Given the description of an element on the screen output the (x, y) to click on. 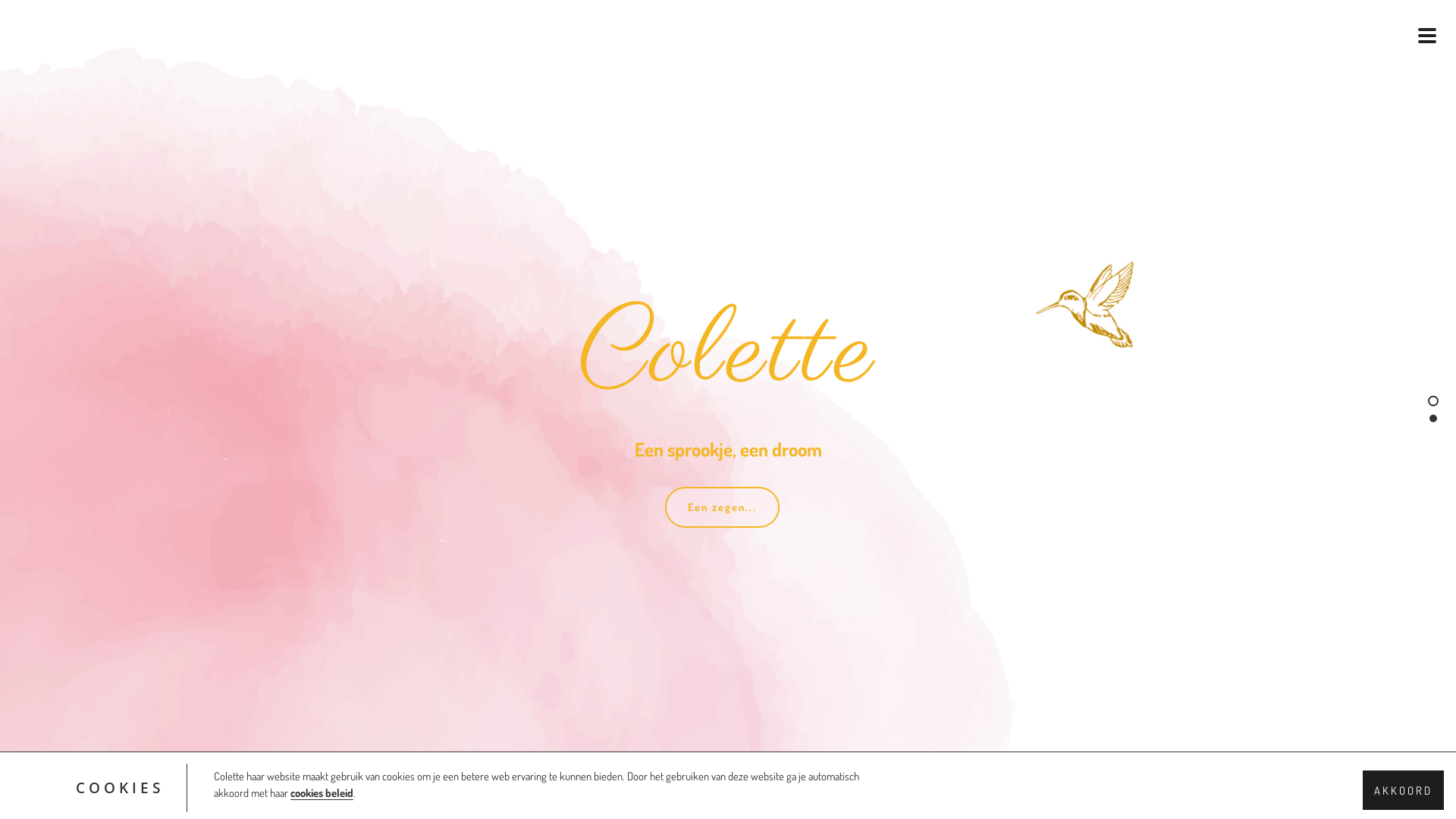
Een zegen... Element type: text (722, 506)
cookies beleid Element type: text (321, 792)
